Given the description of an element on the screen output the (x, y) to click on. 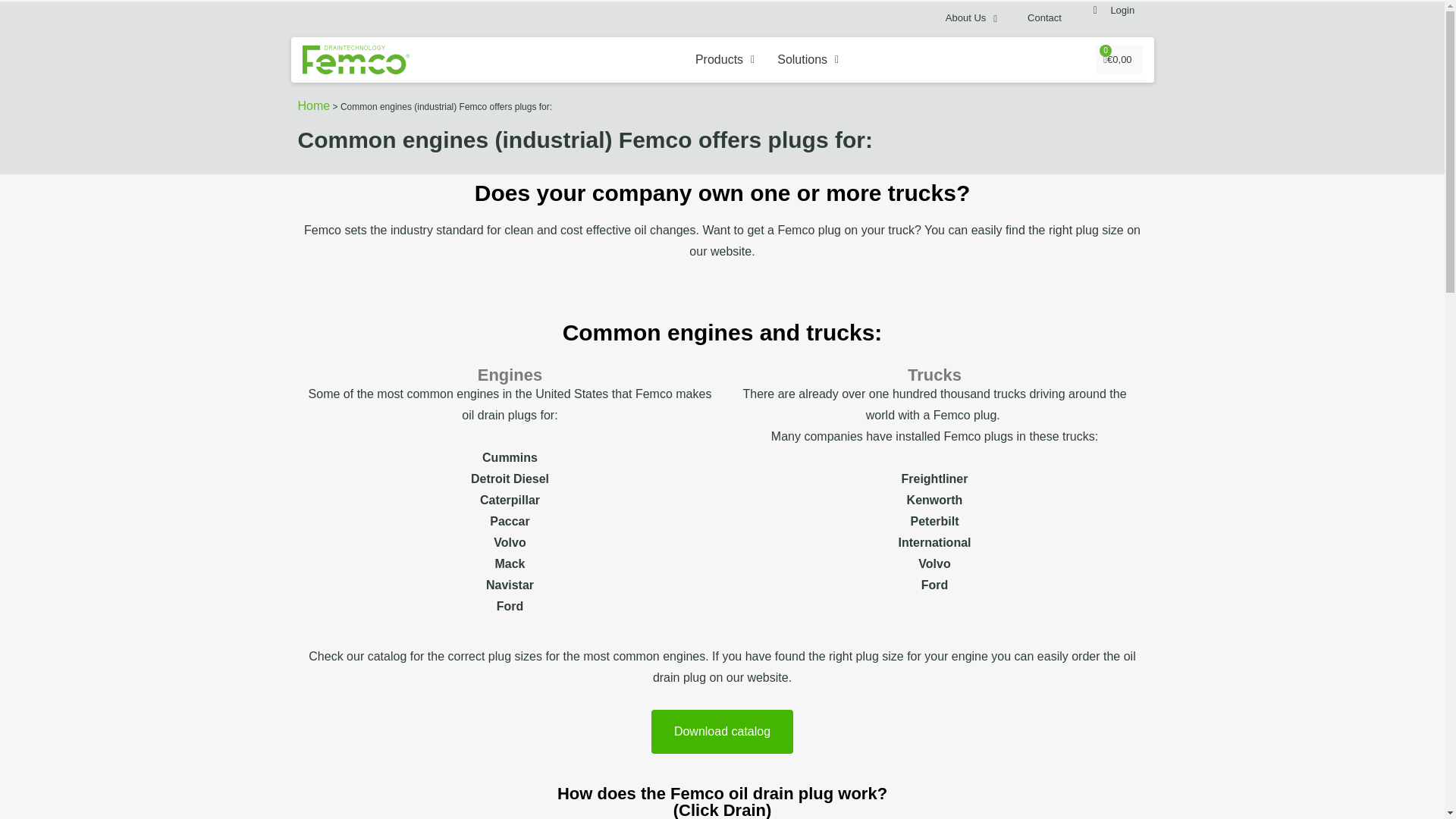
Contact (1044, 17)
Solutions (807, 59)
Femco Draintechnology (355, 59)
Products (724, 59)
About Us (970, 17)
Login (1123, 10)
